Given the description of an element on the screen output the (x, y) to click on. 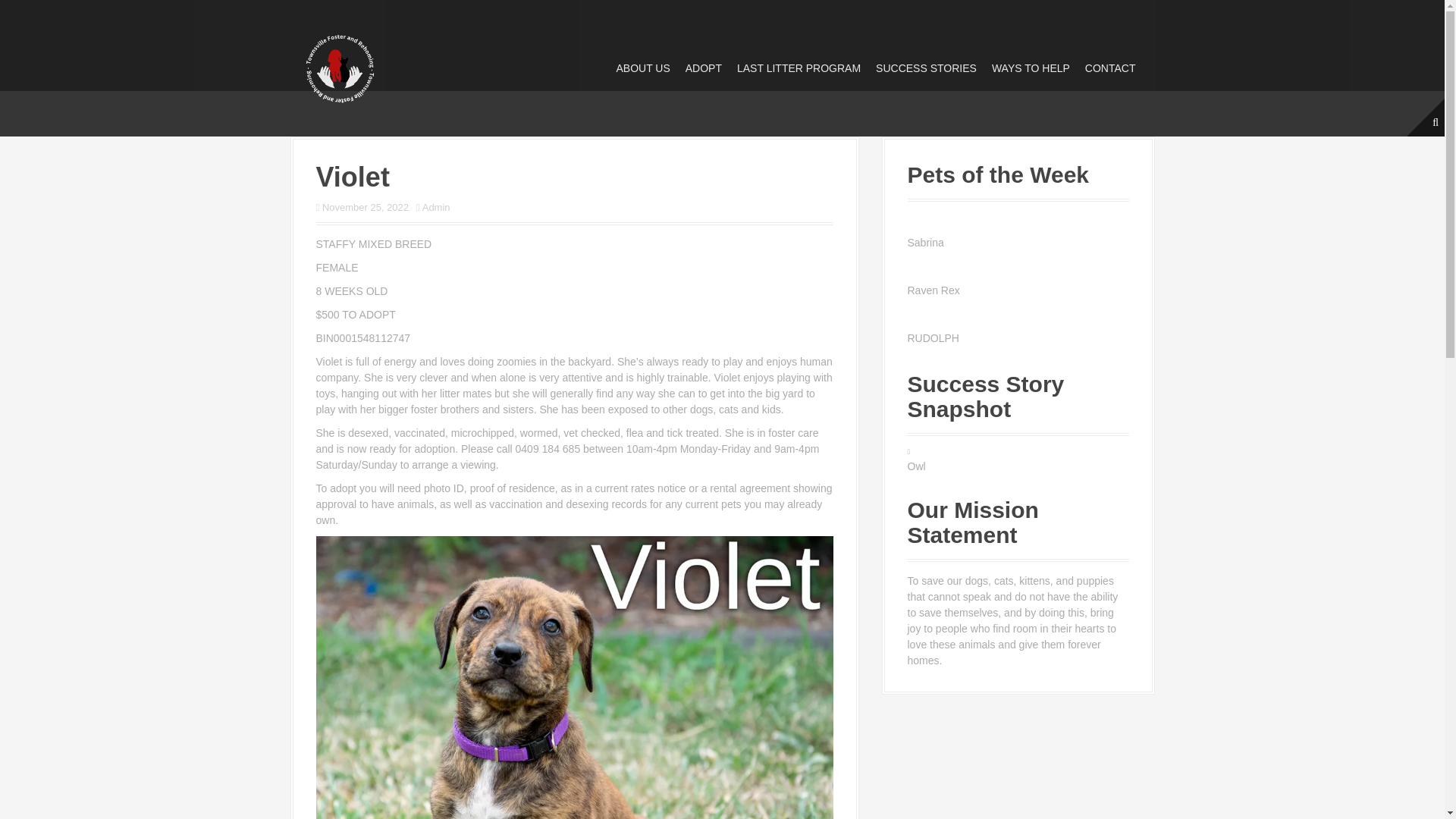
Raven Rex (1017, 290)
LAST LITTER PROGRAM (798, 68)
ADOPT (703, 68)
ABOUT US (642, 68)
Owl (915, 466)
RUDOLPH (1017, 338)
WAYS TO HELP (1030, 68)
Townsville Foster and Rehoming Animals (339, 67)
Sabrina (1017, 242)
November 25, 2022 (365, 206)
